Given the description of an element on the screen output the (x, y) to click on. 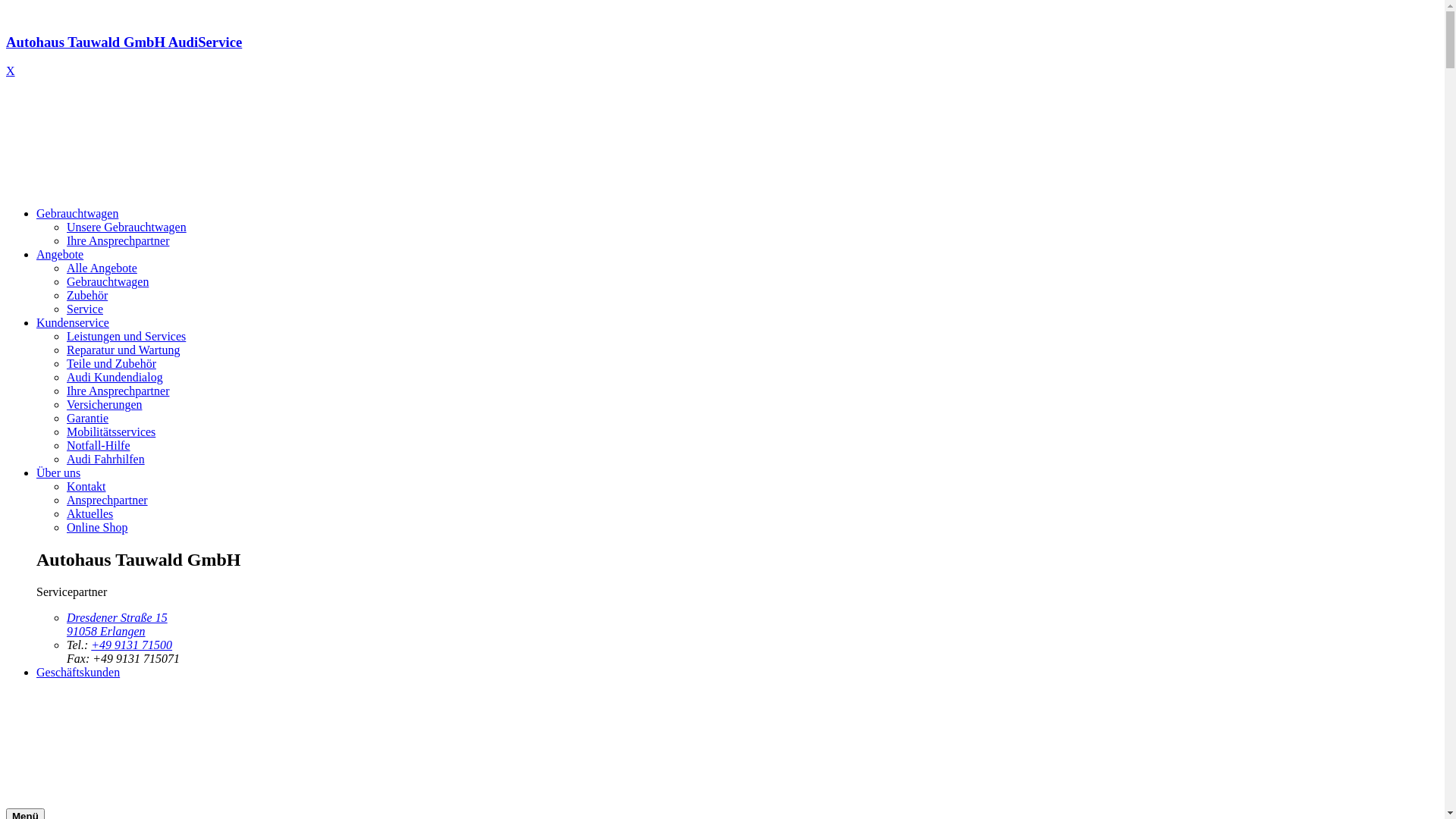
Leistungen und Services Element type: text (125, 335)
Garantie Element type: text (87, 417)
Ihre Ansprechpartner Element type: text (117, 240)
Gebrauchtwagen Element type: text (107, 281)
Alle Angebote Element type: text (101, 267)
Angebote Element type: text (59, 253)
Kontakt Element type: text (86, 486)
Service Element type: text (84, 308)
Audi Kundendialog Element type: text (114, 376)
Aktuelles Element type: text (89, 513)
Unsere Gebrauchtwagen Element type: text (126, 226)
Reparatur und Wartung Element type: text (122, 349)
Autohaus Tauwald GmbH AudiService Element type: text (722, 56)
X Element type: text (10, 70)
Ansprechpartner Element type: text (106, 499)
Ihre Ansprechpartner Element type: text (117, 390)
Notfall-Hilfe Element type: text (98, 445)
Kundenservice Element type: text (72, 322)
Gebrauchtwagen Element type: text (77, 213)
Online Shop Element type: text (96, 526)
Versicherungen Element type: text (104, 404)
+49 9131 71500 Element type: text (131, 644)
Audi Fahrhilfen Element type: text (105, 458)
